Given the description of an element on the screen output the (x, y) to click on. 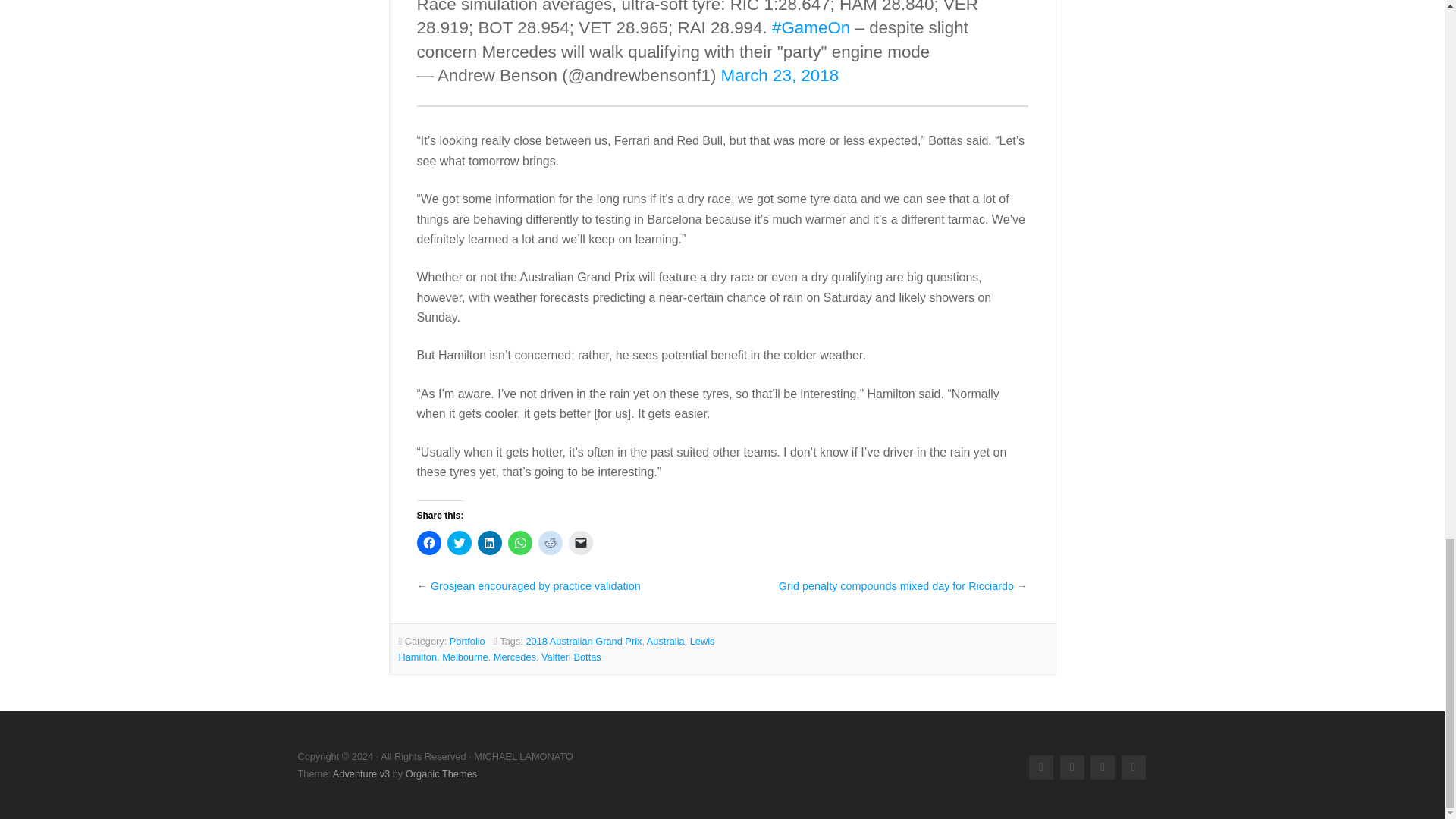
Grosjean encouraged by practice validation (535, 585)
2018 Australian Grand Prix (583, 641)
Click to share on LinkedIn (489, 542)
Lewis Hamilton (556, 648)
Grid penalty compounds mixed day for Ricciardo (895, 585)
Mercedes (514, 656)
Click to email a link to a friend (580, 542)
Click to share on Twitter (458, 542)
Portfolio (466, 641)
Adventure v3 (361, 773)
